Given the description of an element on the screen output the (x, y) to click on. 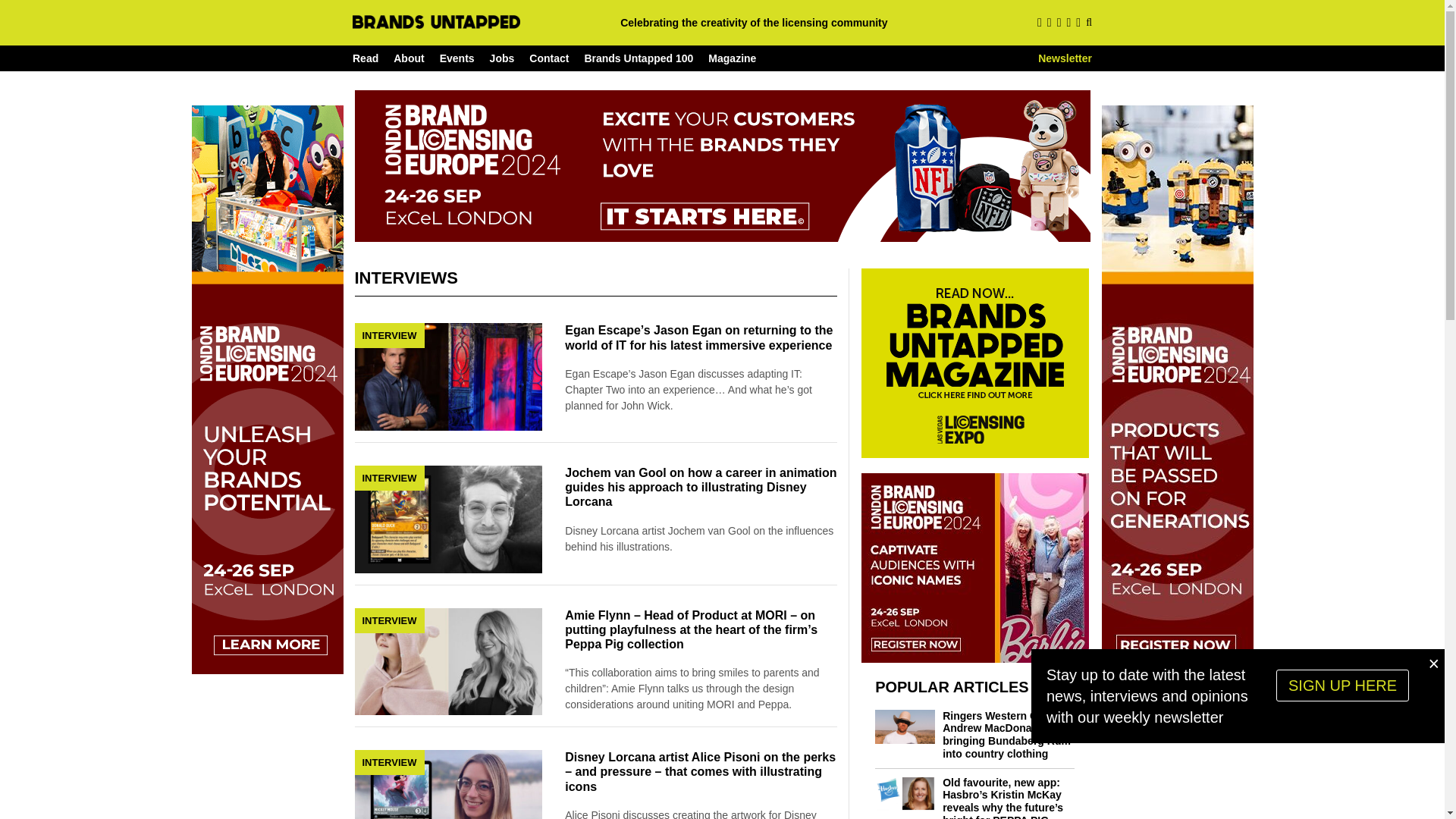
Events (456, 58)
Newsletter (1065, 58)
Brands Untapped 100 (638, 58)
Magazine (731, 58)
Contact (549, 58)
Go (1078, 58)
Read (365, 58)
Jobs (502, 58)
About (408, 58)
Brands Untapped (435, 20)
